Given the description of an element on the screen output the (x, y) to click on. 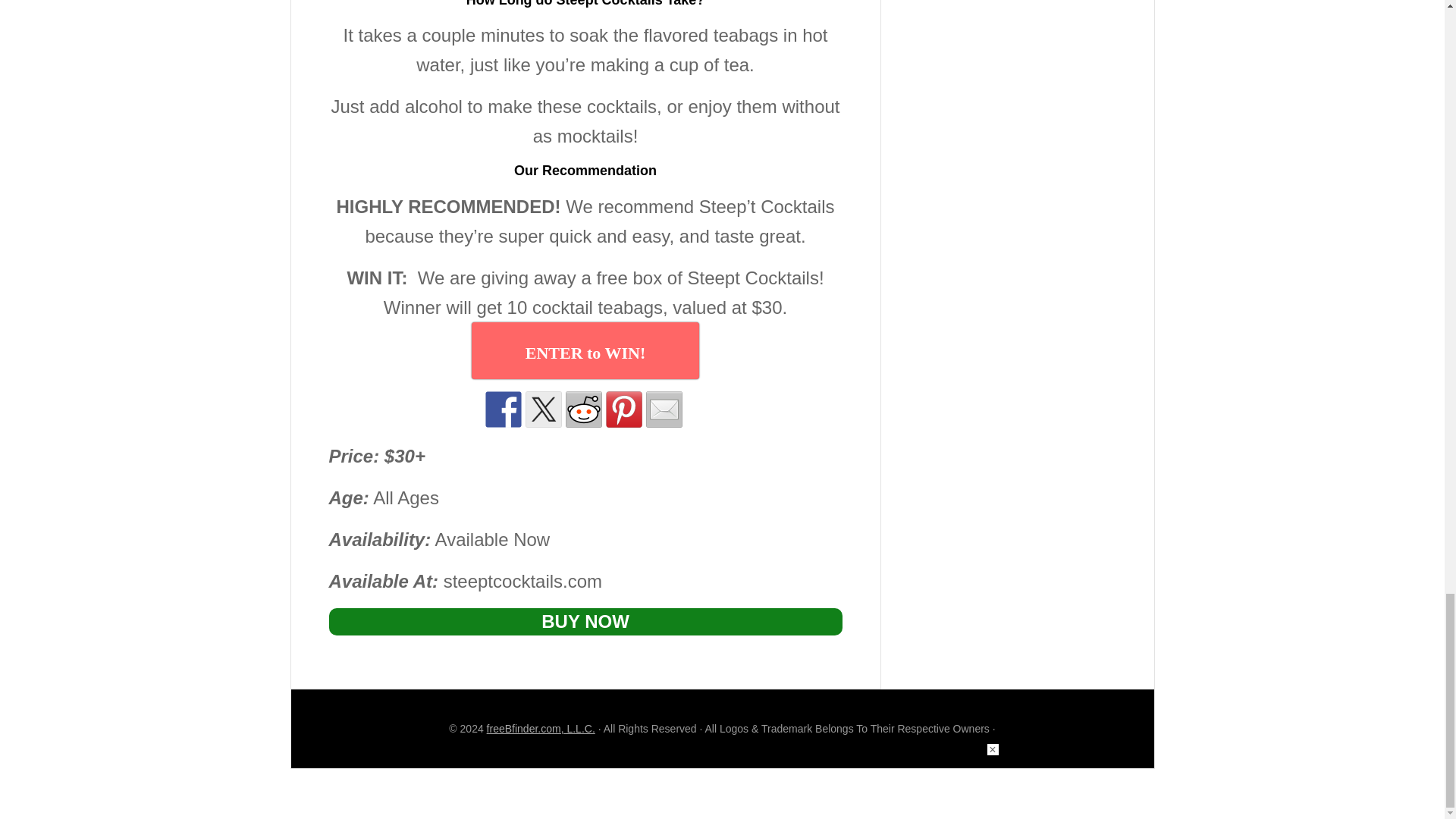
Click Here to Enter (584, 350)
ENTER to WIN! (584, 350)
